Given the description of an element on the screen output the (x, y) to click on. 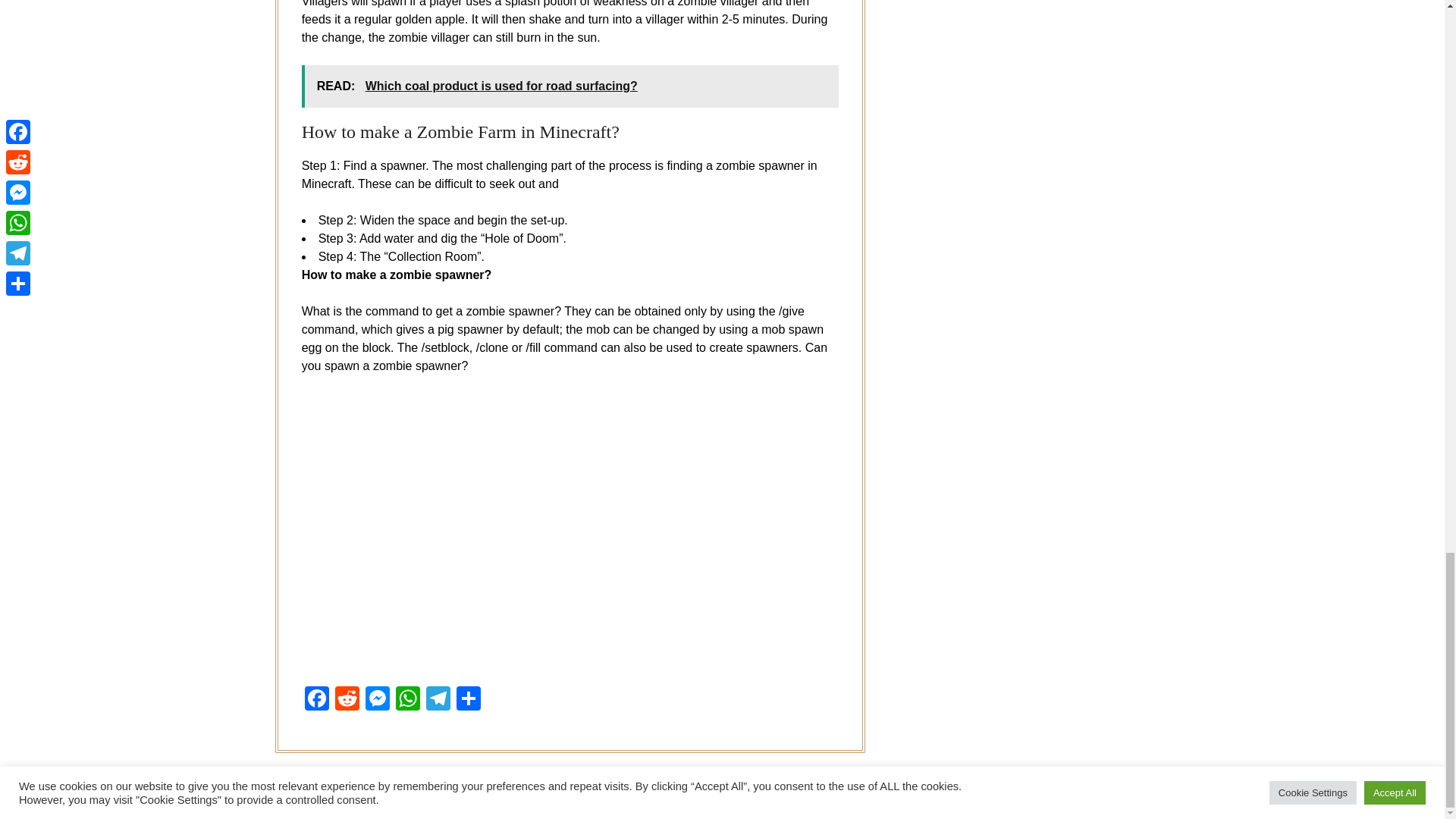
Reddit (346, 700)
Messenger (377, 700)
Telegram (437, 700)
Facebook (316, 700)
READ:   Which coal product is used for road surfacing? (570, 86)
Share (467, 700)
Reddit (346, 700)
WhatsApp (408, 700)
Messenger (377, 700)
Telegram (437, 700)
WhatsApp (408, 700)
Facebook (316, 700)
